Given the description of an element on the screen output the (x, y) to click on. 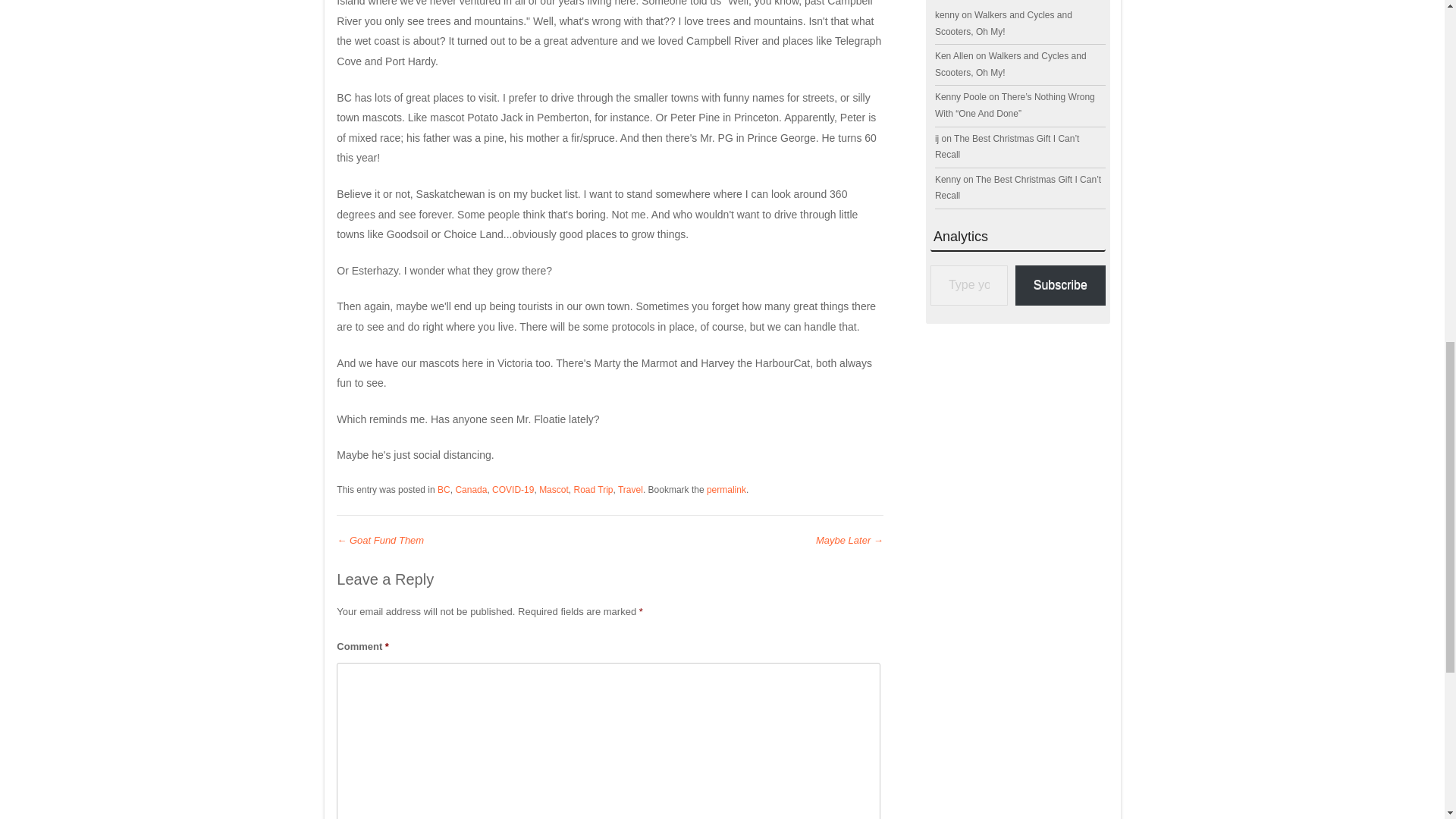
Please fill in this field. (968, 285)
Road Trip (592, 489)
Travel (630, 489)
Permalink to Hit The Road, Jack (725, 489)
Mascot (553, 489)
Walkers and Cycles and Scooters, Oh My! (1010, 63)
BC (443, 489)
Walkers and Cycles and Scooters, Oh My! (1002, 22)
COVID-19 (513, 489)
Subscribe (1059, 285)
